Given the description of an element on the screen output the (x, y) to click on. 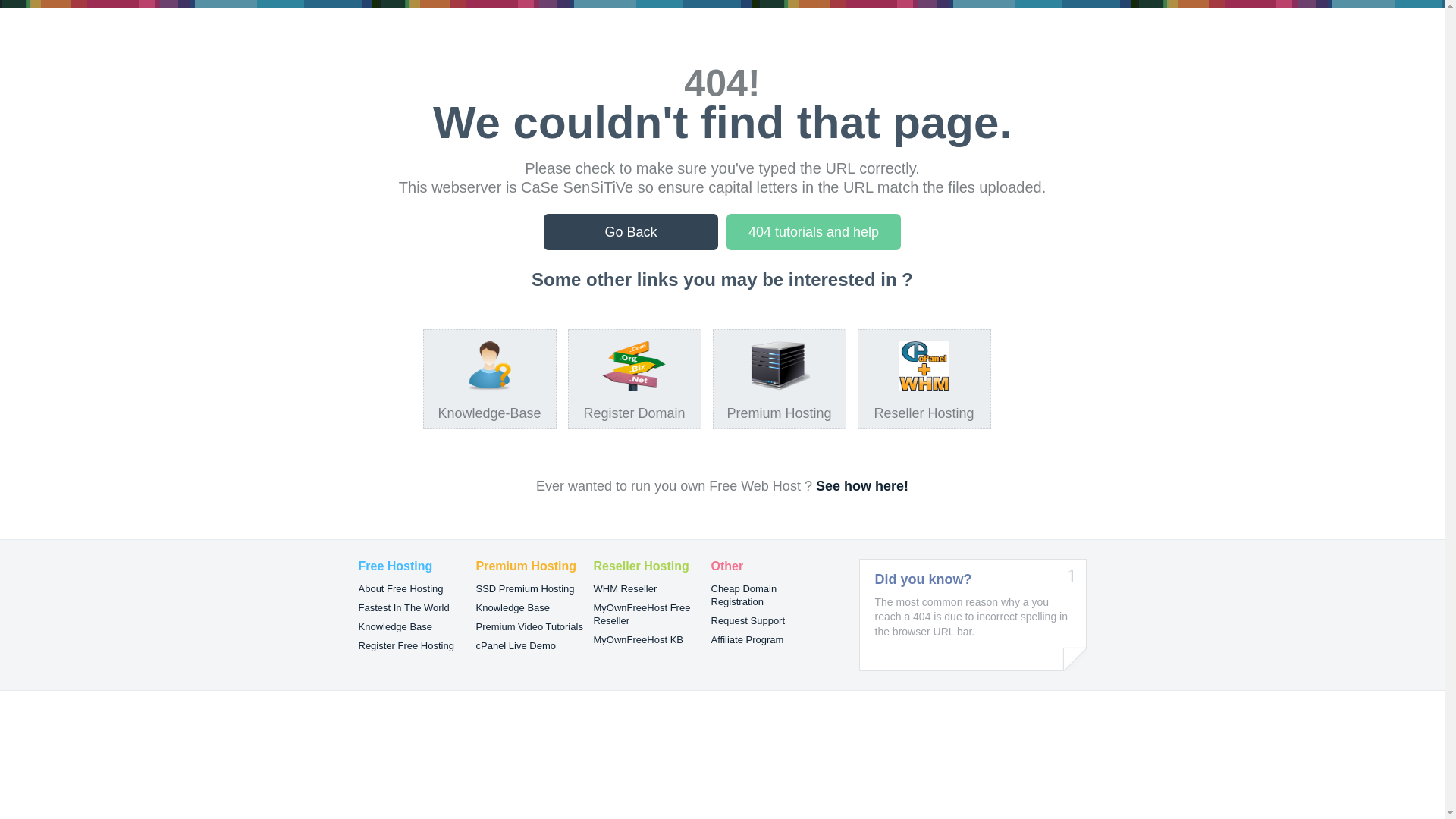
WHM Reseller Element type: text (624, 588)
Go Back Element type: text (630, 231)
Cheap Domain Registration Element type: text (744, 595)
Premium Video Tutorials Element type: text (529, 626)
Knowledge Base Element type: text (394, 626)
SSD Premium Hosting Element type: text (525, 588)
cPanel Live Demo Element type: text (516, 645)
MyOwnFreeHost Free Reseller Element type: text (641, 614)
MyOwnFreeHost KB Element type: text (637, 639)
Affiliate Program Element type: text (747, 639)
See how here! Element type: text (861, 485)
Request Support Element type: text (748, 620)
About Free Hosting Element type: text (399, 588)
404 tutorials and help Element type: text (813, 231)
Fastest In The World Element type: text (402, 607)
Knowledge Base Element type: text (513, 607)
Register Free Hosting Element type: text (405, 645)
